Given the description of an element on the screen output the (x, y) to click on. 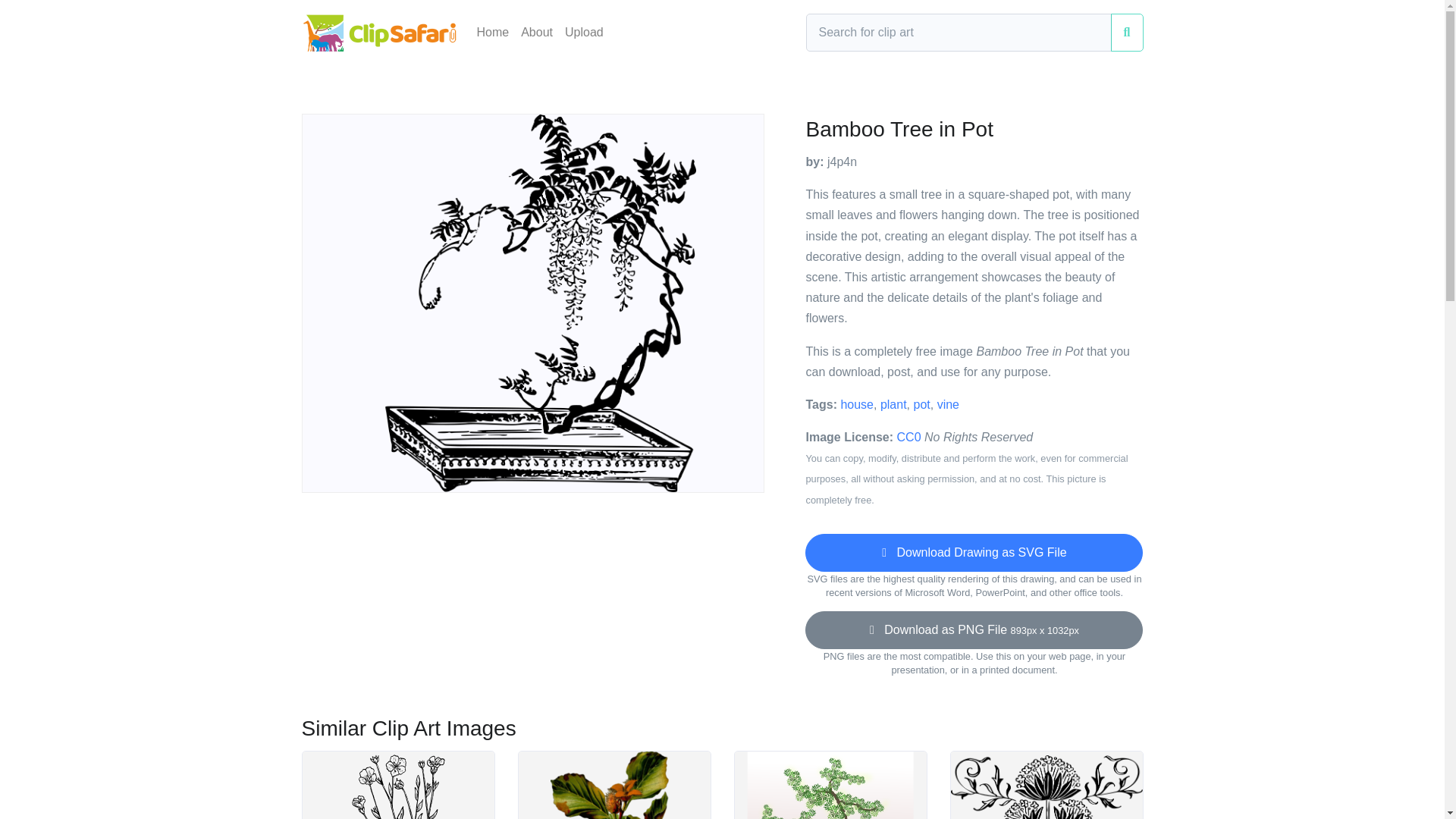
plant (893, 404)
Upload (584, 32)
vine (948, 404)
Home (492, 32)
pot (921, 404)
  Download as PNG File 893px x 1032px (973, 629)
house (856, 404)
About (537, 32)
CC0 (908, 436)
